Given the description of an element on the screen output the (x, y) to click on. 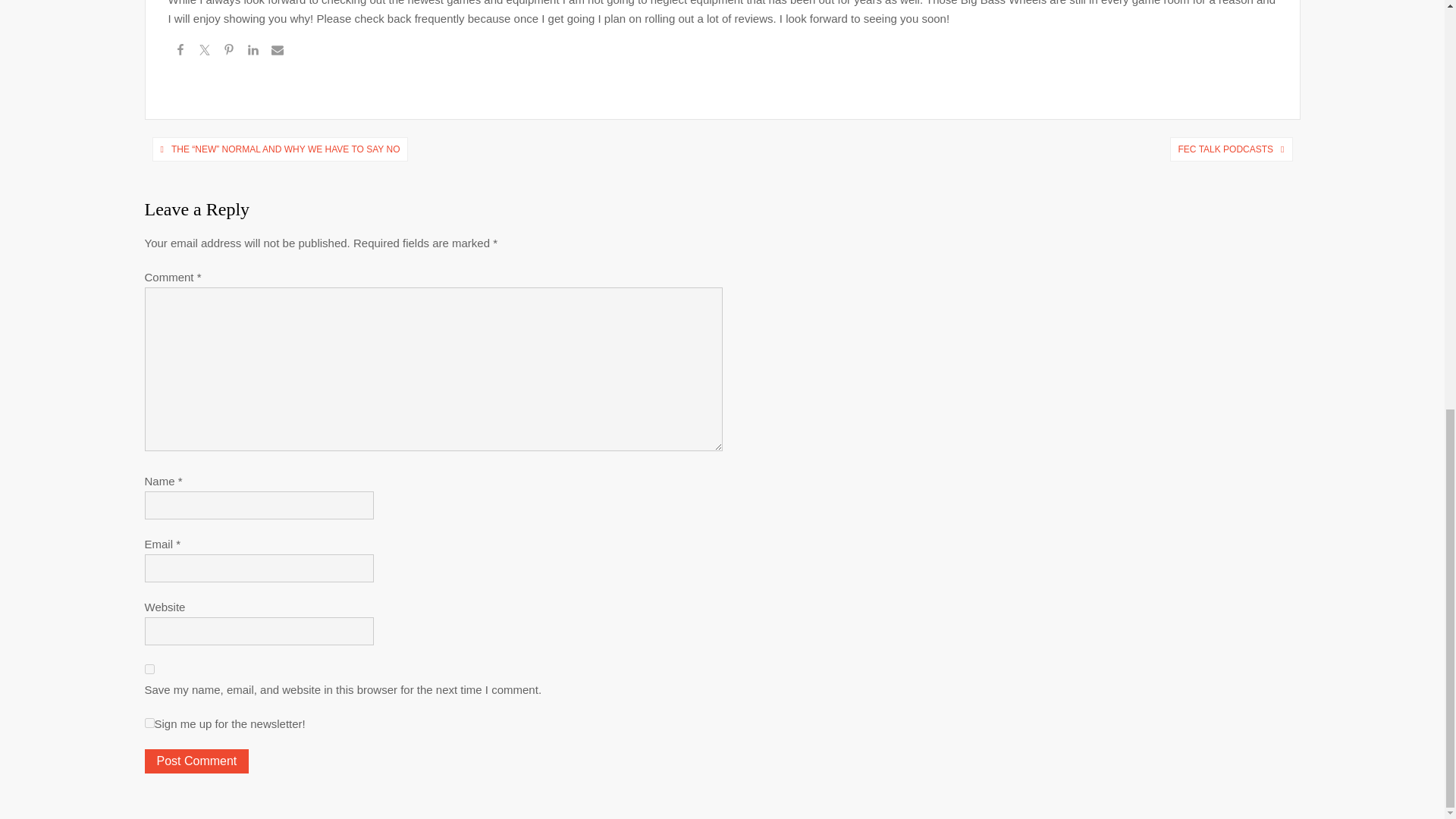
yes (149, 669)
Post Comment (196, 761)
1 (149, 723)
